Given the description of an element on the screen output the (x, y) to click on. 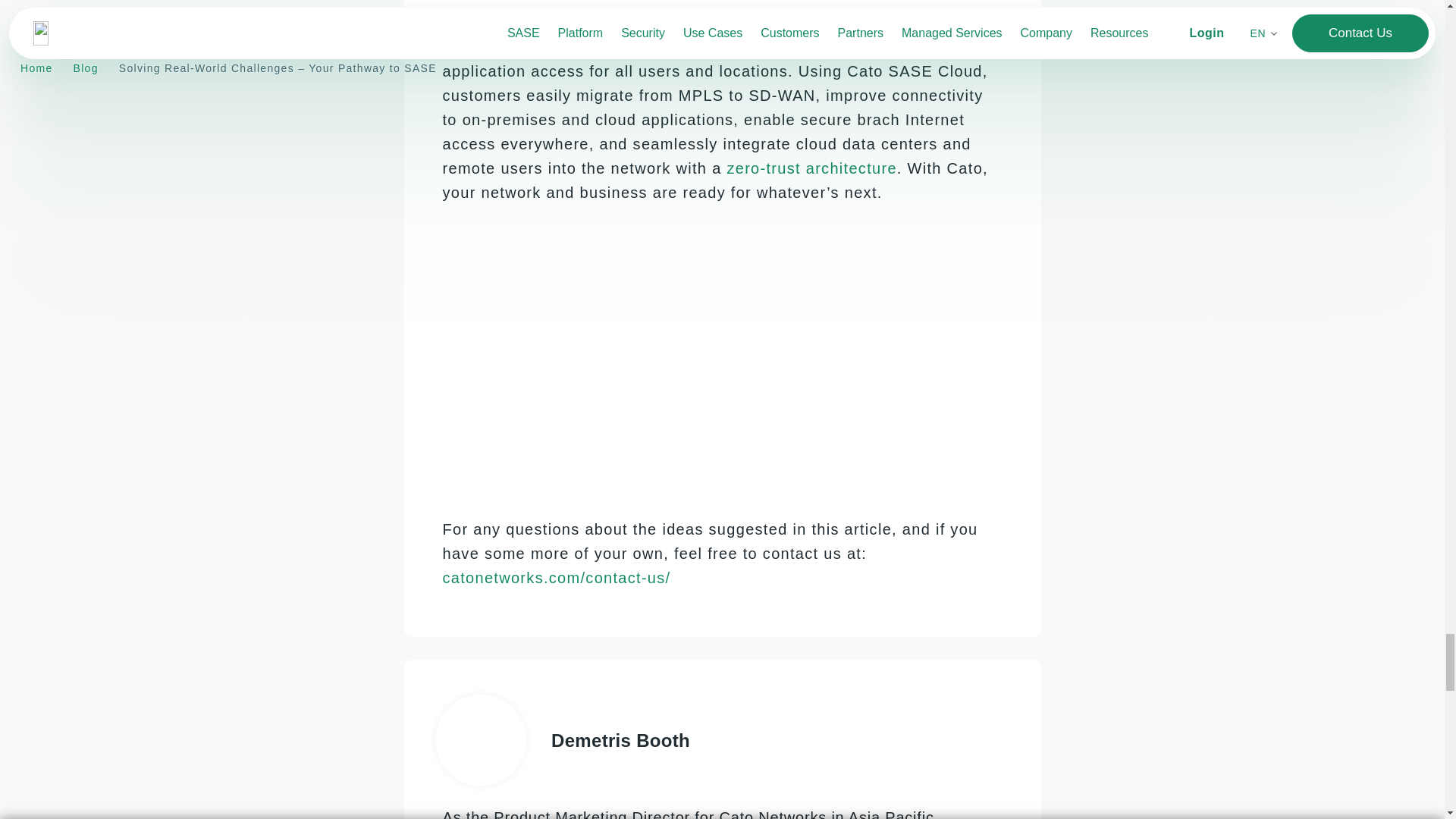
Demetris Booth (761, 739)
